Given the description of an element on the screen output the (x, y) to click on. 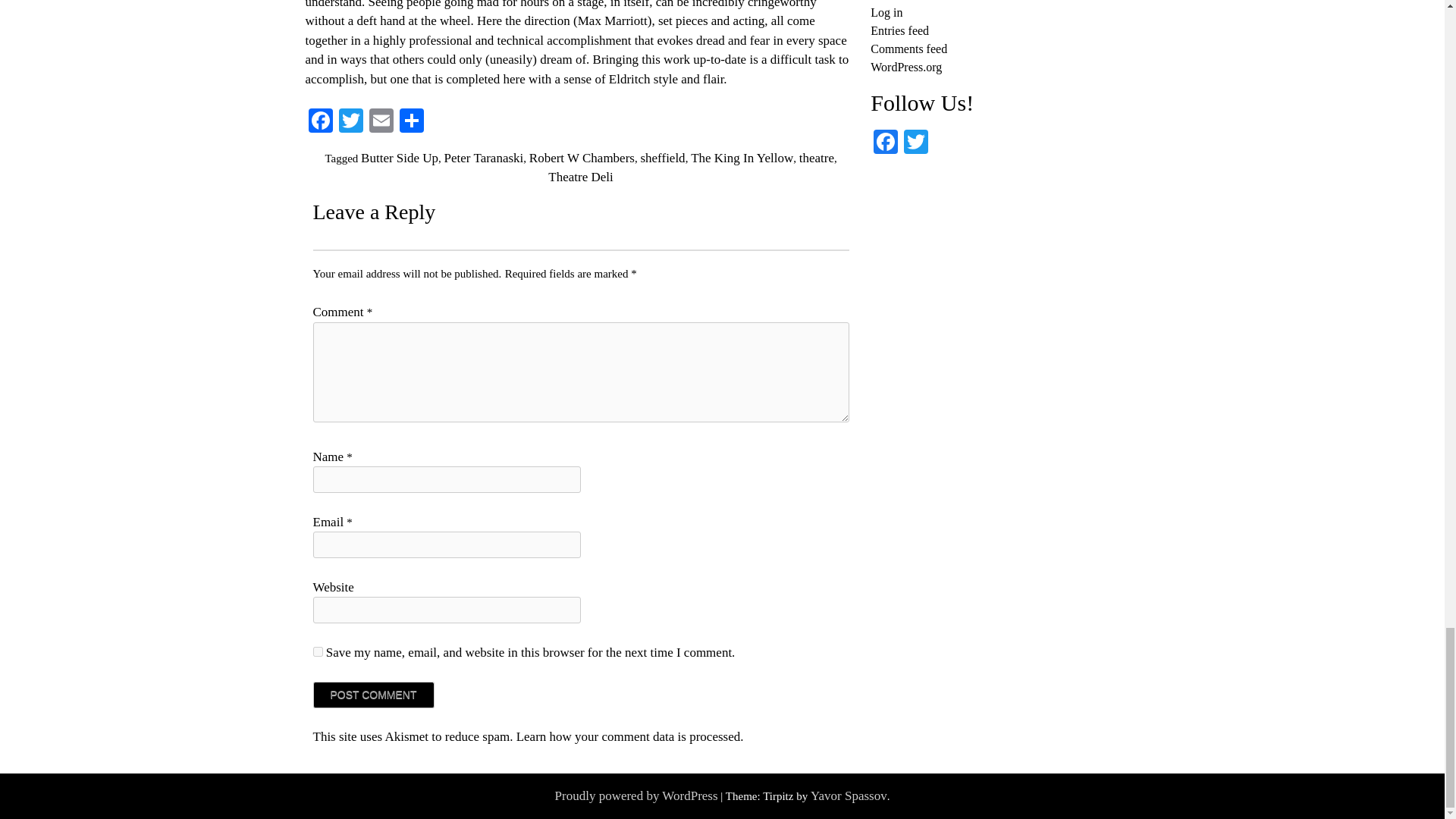
Robert W Chambers (581, 157)
Facebook (319, 122)
Email (380, 122)
Facebook (319, 122)
Learn how your comment data is processed (628, 736)
Theatre Deli (580, 176)
Facebook (885, 143)
Twitter (349, 122)
sheffield (662, 157)
Butter Side Up (399, 157)
